Given the description of an element on the screen output the (x, y) to click on. 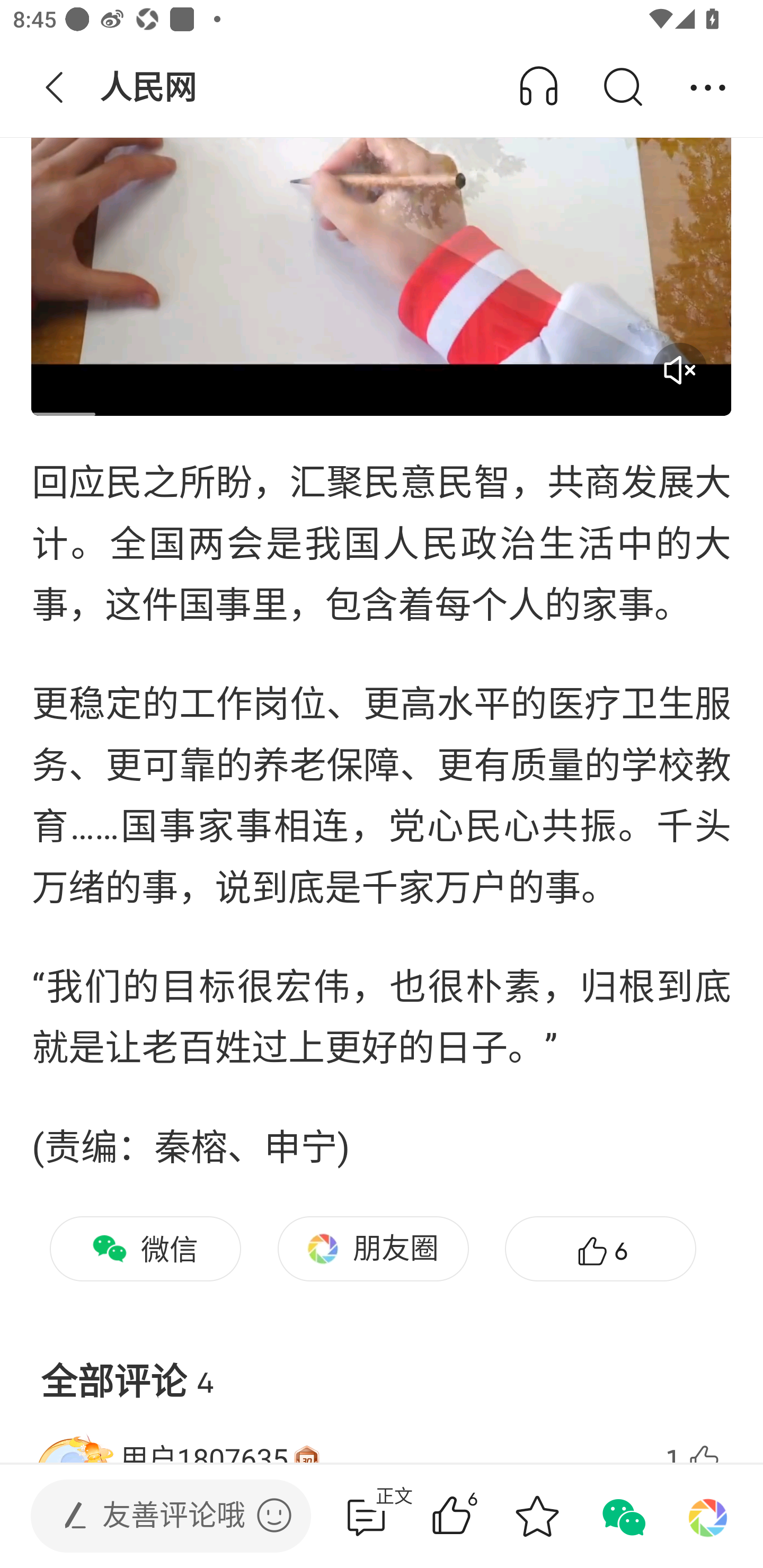
03:49 (381, 218)
人民网 (150, 87)
搜索  (622, 87)
分享  (707, 87)
 返回 (54, 87)
音量开关 (679, 369)
微信 分享到微信 (145, 1248)
朋友圈 分享到朋友圈 (373, 1248)
6赞 (600, 1248)
全部评论 4 (381, 1366)
发表评论  友善评论哦 发表评论  (155, 1516)
4评论  正文 正文 (365, 1516)
6赞 (476, 1516)
收藏  (536, 1516)
分享到微信  (622, 1516)
分享到朋友圈 (707, 1516)
 (274, 1515)
